Given the description of an element on the screen output the (x, y) to click on. 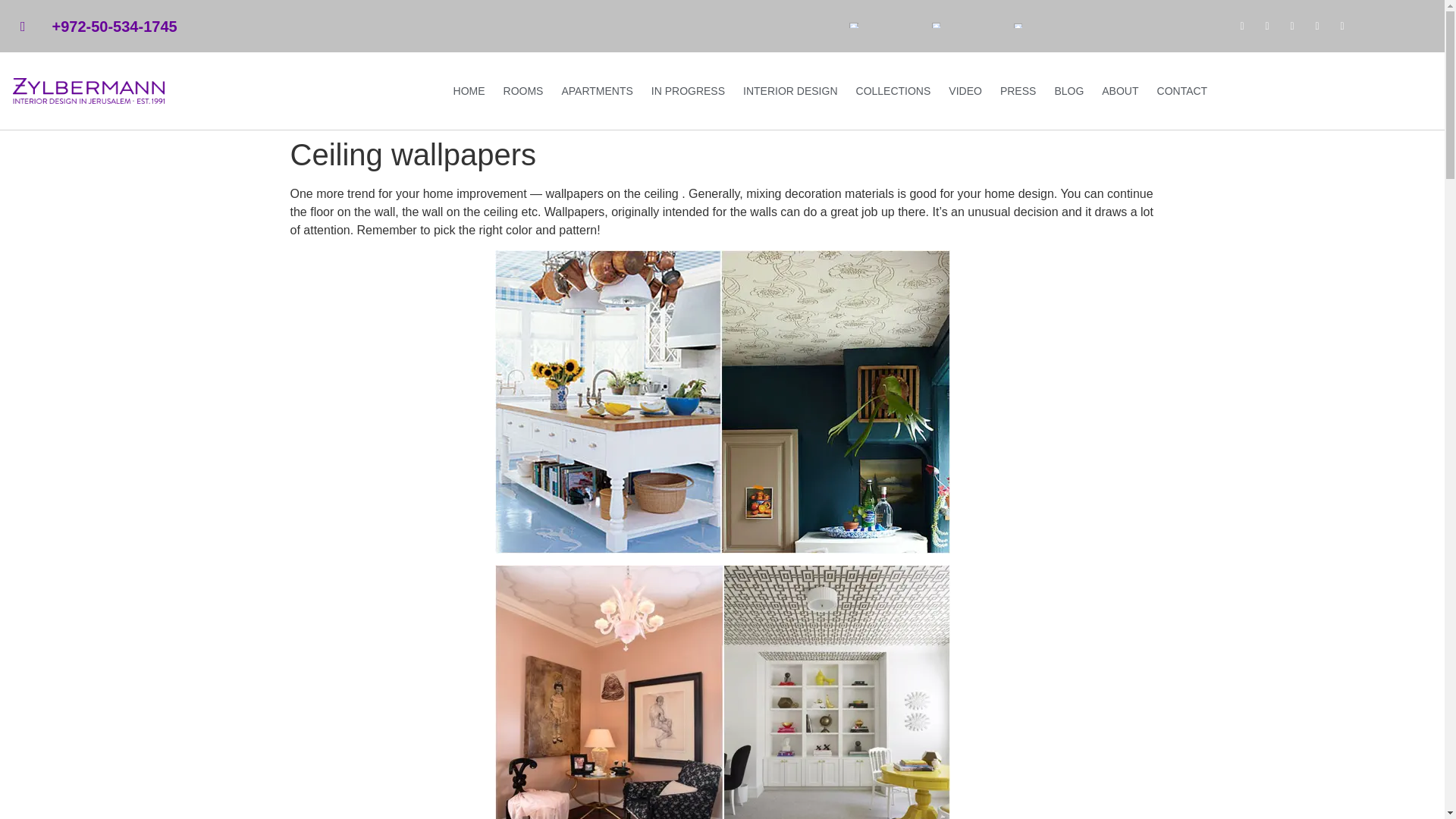
IN PROGRESS (688, 91)
CONTACT (1182, 91)
APARTMENTS (596, 91)
INTERIOR DESIGN (790, 91)
COLLECTIONS (892, 91)
